Given the description of an element on the screen output the (x, y) to click on. 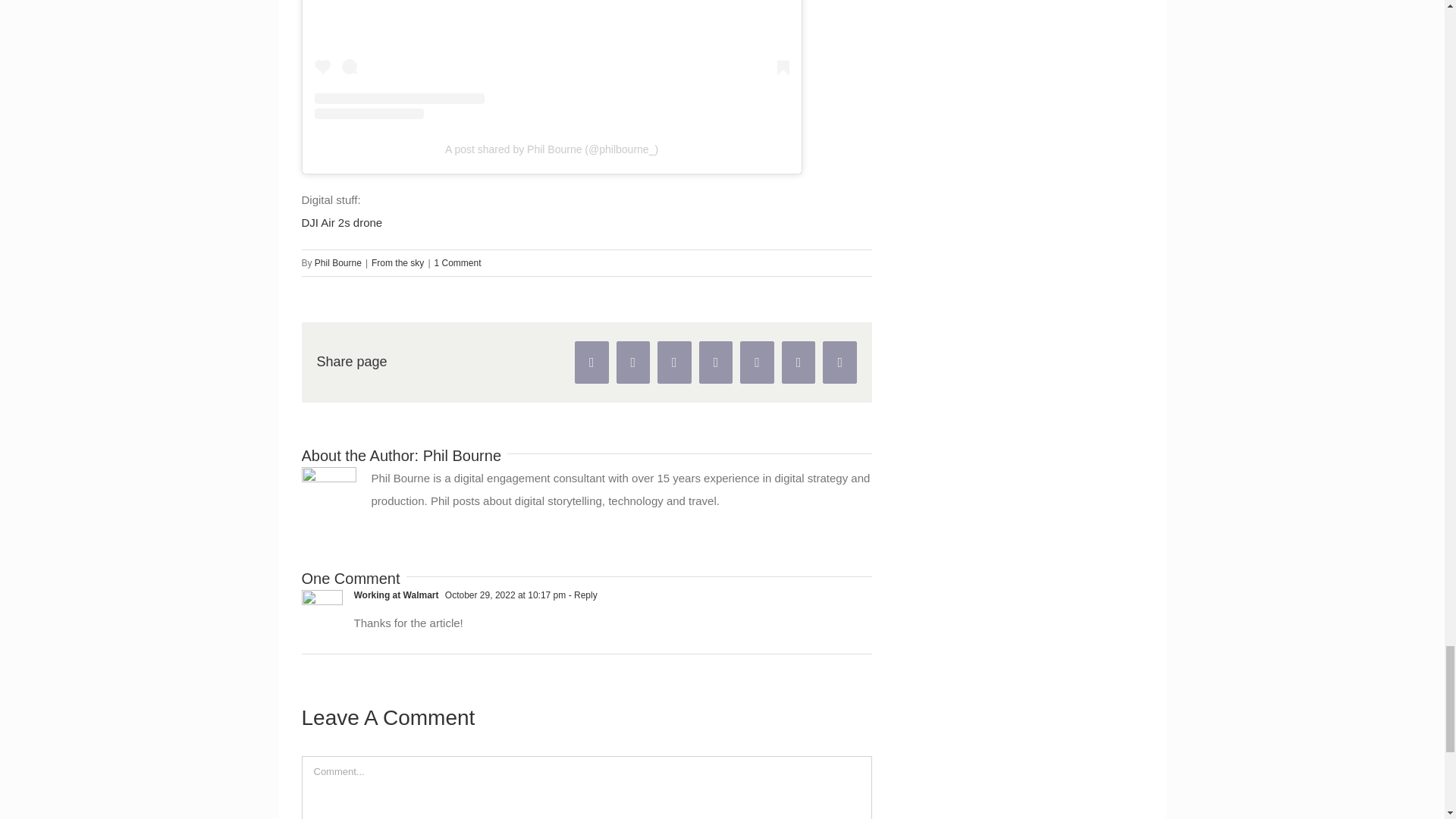
Posts by Phil Bourne (461, 455)
Posts by Phil Bourne (337, 262)
View this post on Instagram (551, 59)
